Given the description of an element on the screen output the (x, y) to click on. 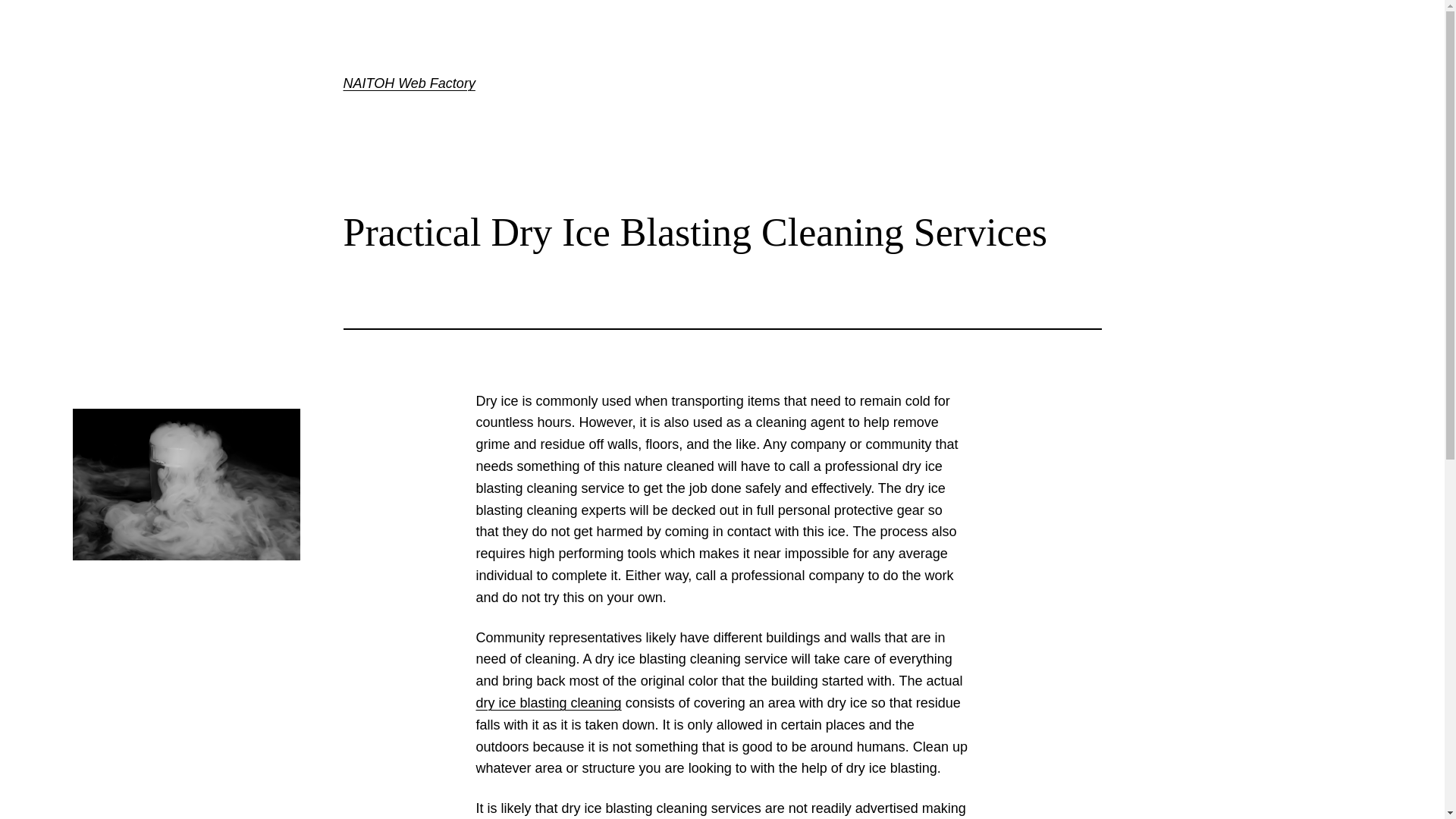
Dry ice cleaning, Dry ice blasting cleaning (548, 702)
NAITOH Web Factory (408, 83)
dry ice blasting cleaning (548, 702)
